Given the description of an element on the screen output the (x, y) to click on. 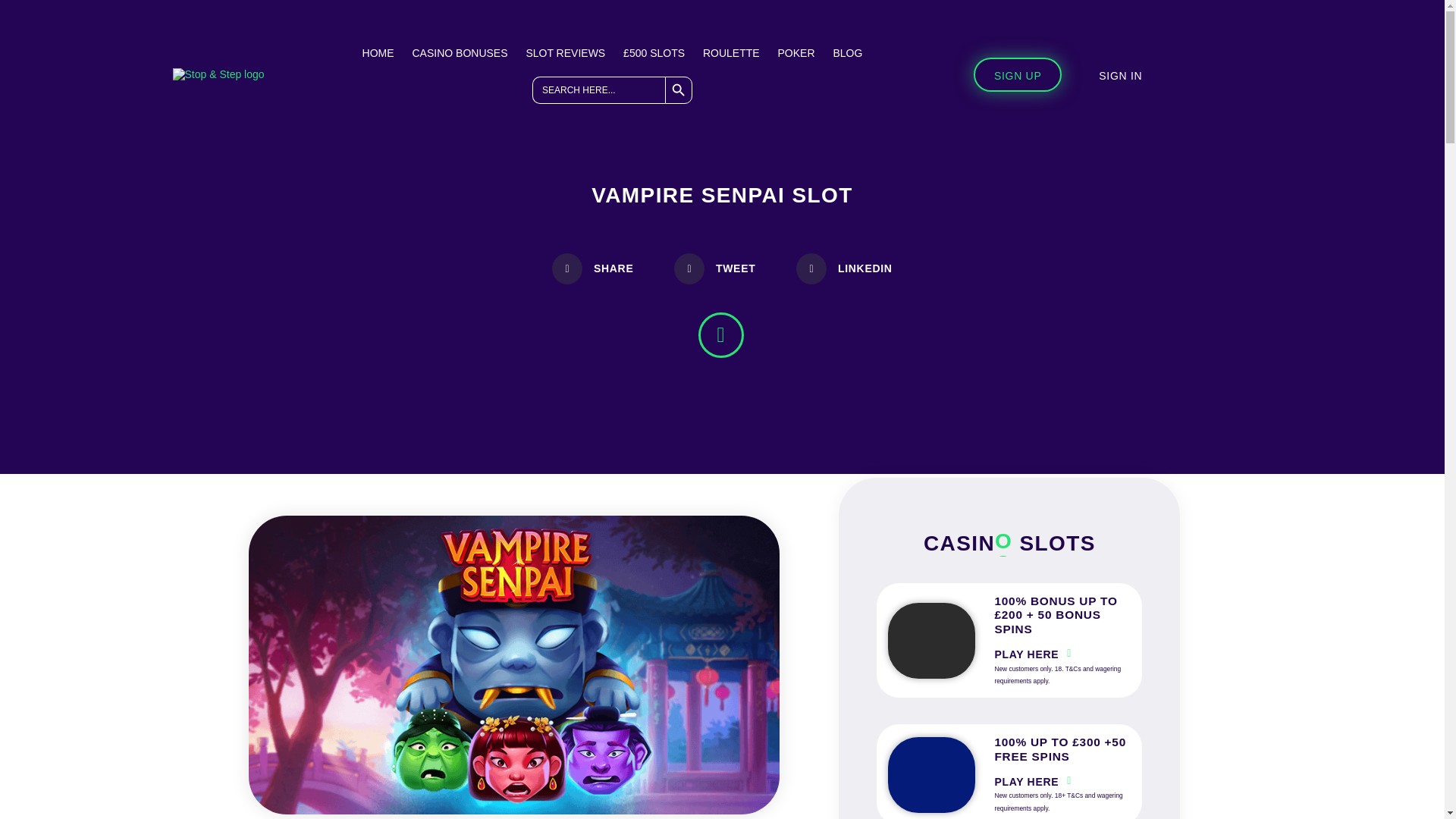
TWEET (714, 268)
SIGN IN (1120, 74)
Search Button (679, 90)
SHARE (592, 268)
SLOT REVIEWS (565, 52)
BLOG (846, 52)
ROULETTE (731, 52)
CASINO BONUSES (460, 52)
POKER (796, 52)
SIGN UP (1017, 74)
